Given the description of an element on the screen output the (x, y) to click on. 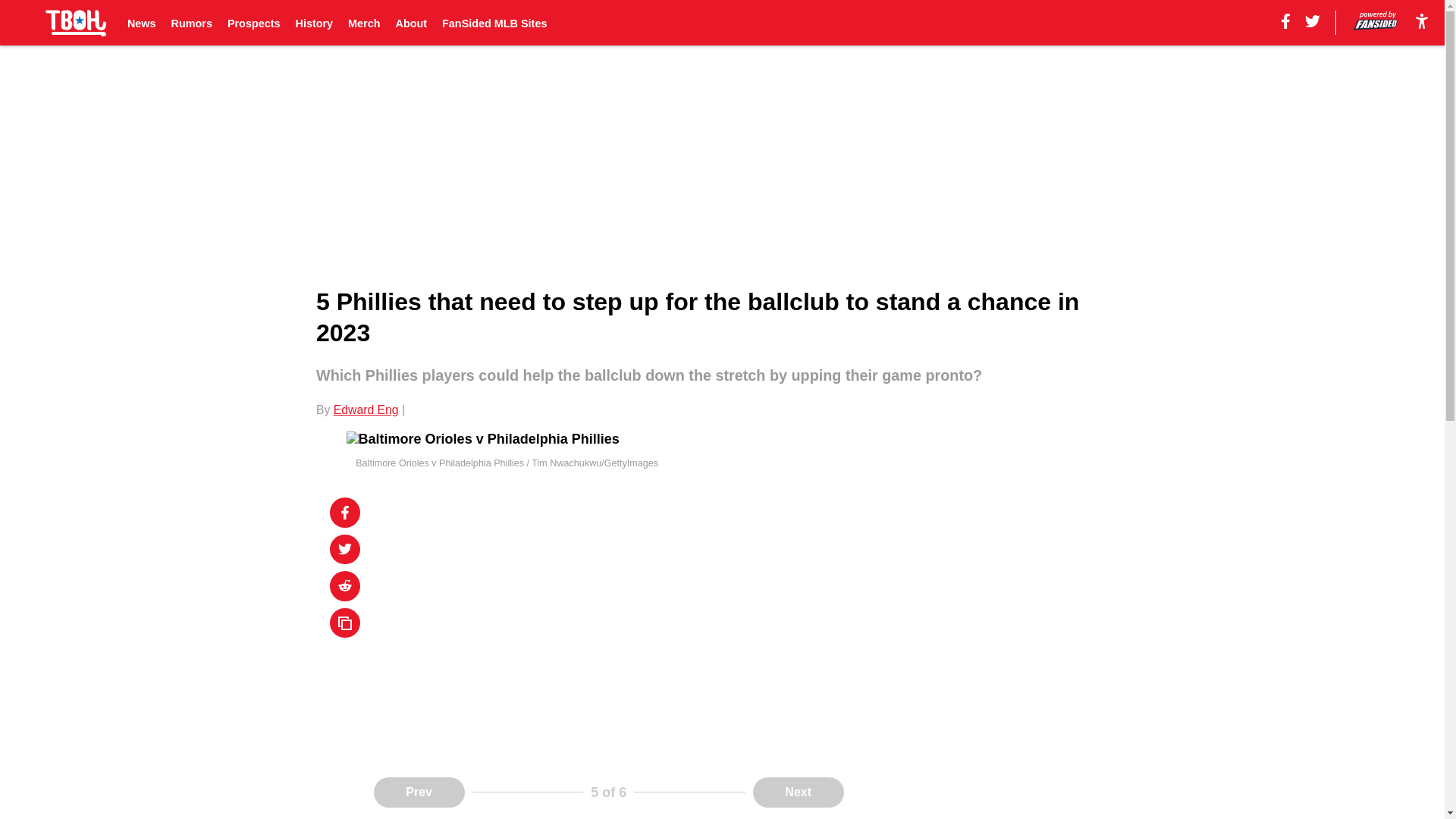
Merch (363, 23)
Edward Eng (365, 409)
News (141, 23)
Rumors (191, 23)
Prev (419, 792)
Next (798, 792)
About (412, 23)
History (314, 23)
Prospects (254, 23)
FanSided MLB Sites (494, 23)
